Given the description of an element on the screen output the (x, y) to click on. 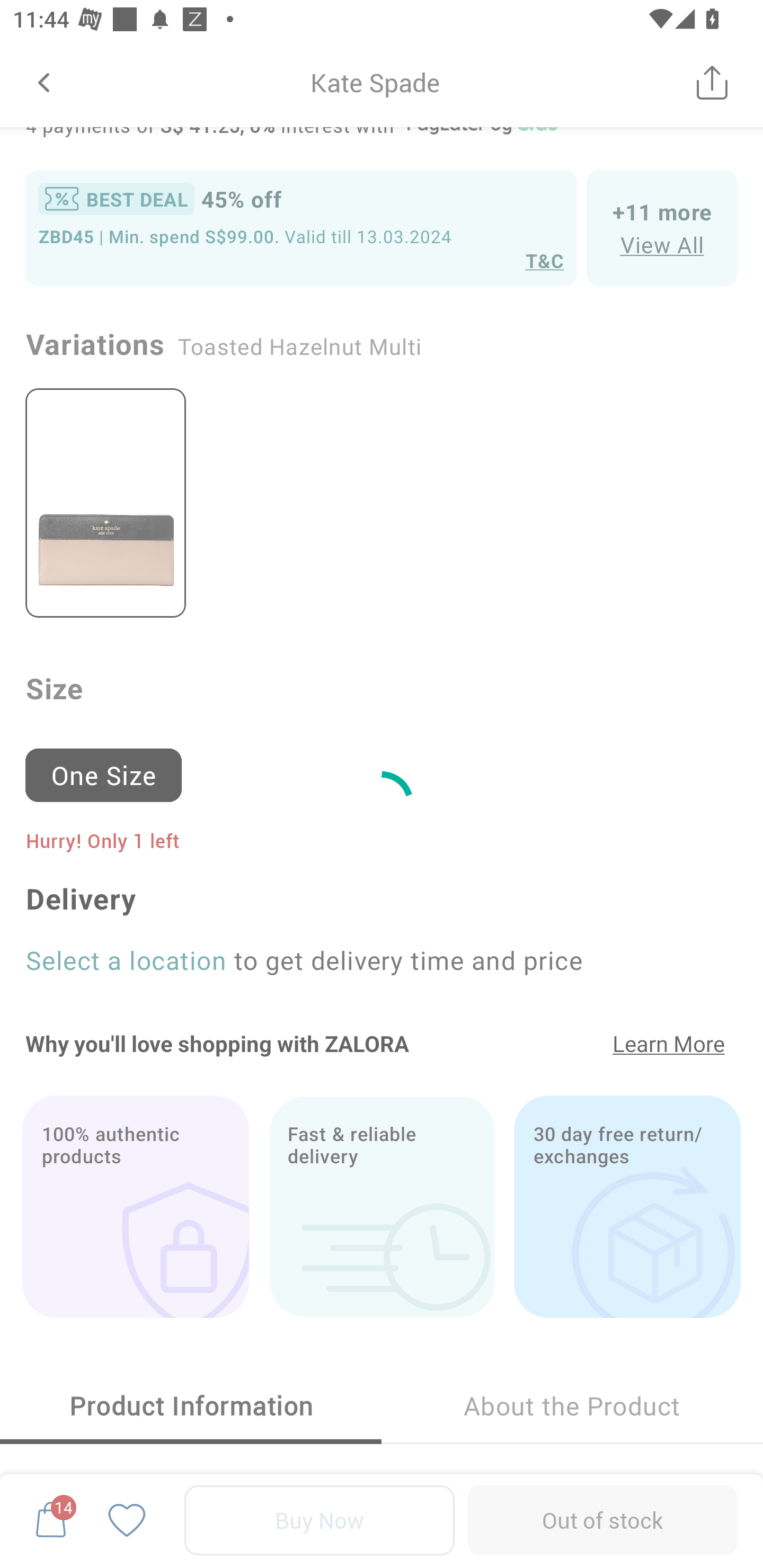
Kate Spade (375, 82)
Share this Product (711, 82)
+11 more
View All (661, 227)
T&C (544, 259)
One Size (111, 767)
Learn More (668, 1043)
100% authentic products (135, 1206)
Fast & reliable delivery (381, 1206)
30 day free return/exchanges (627, 1206)
About the Product (572, 1405)
Out of stock (601, 1519)
14 (50, 1520)
